Given the description of an element on the screen output the (x, y) to click on. 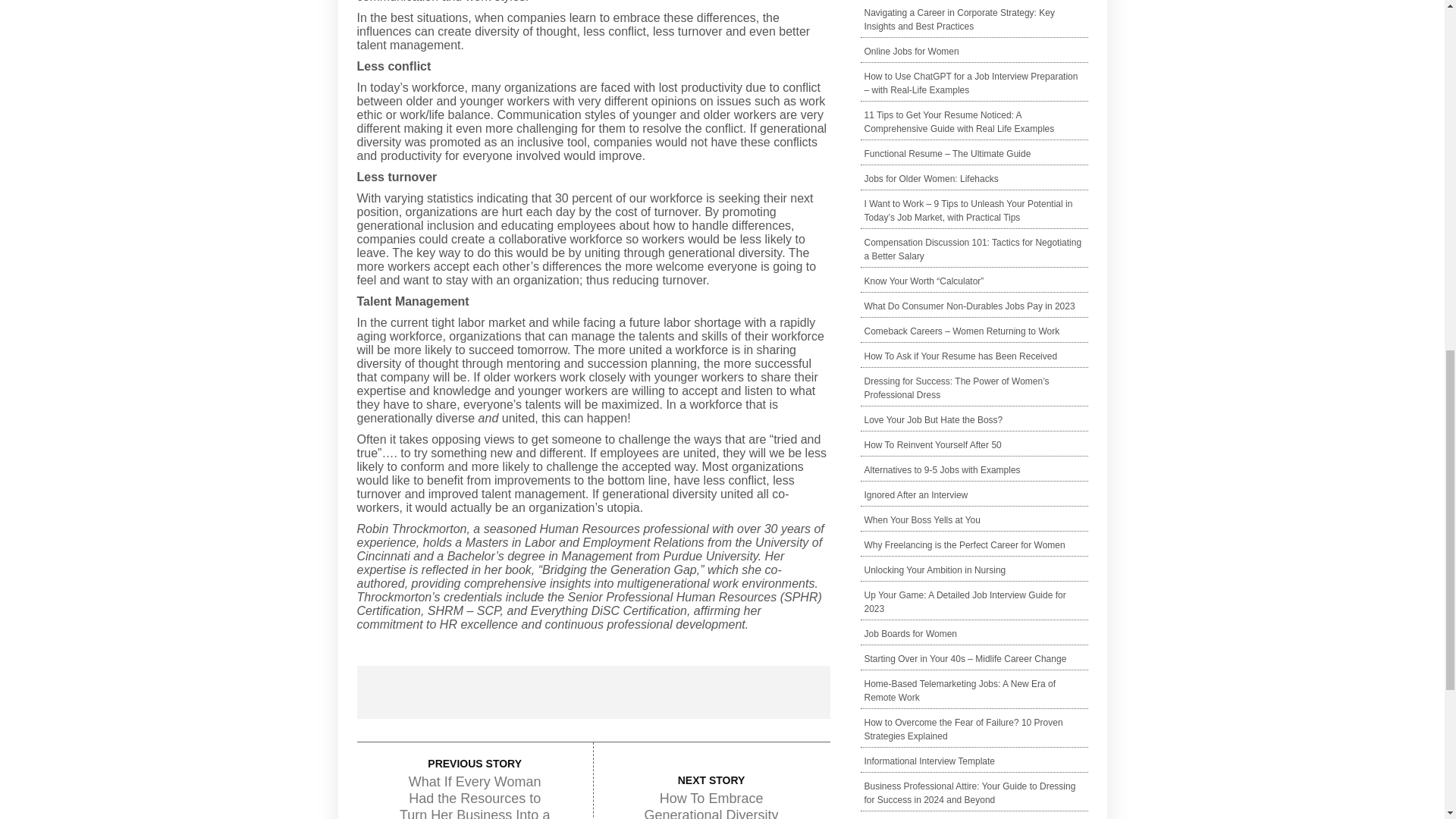
Tweet This (533, 692)
Share on Facebook (415, 692)
Pin This (651, 692)
Email This (770, 692)
